Given the description of an element on the screen output the (x, y) to click on. 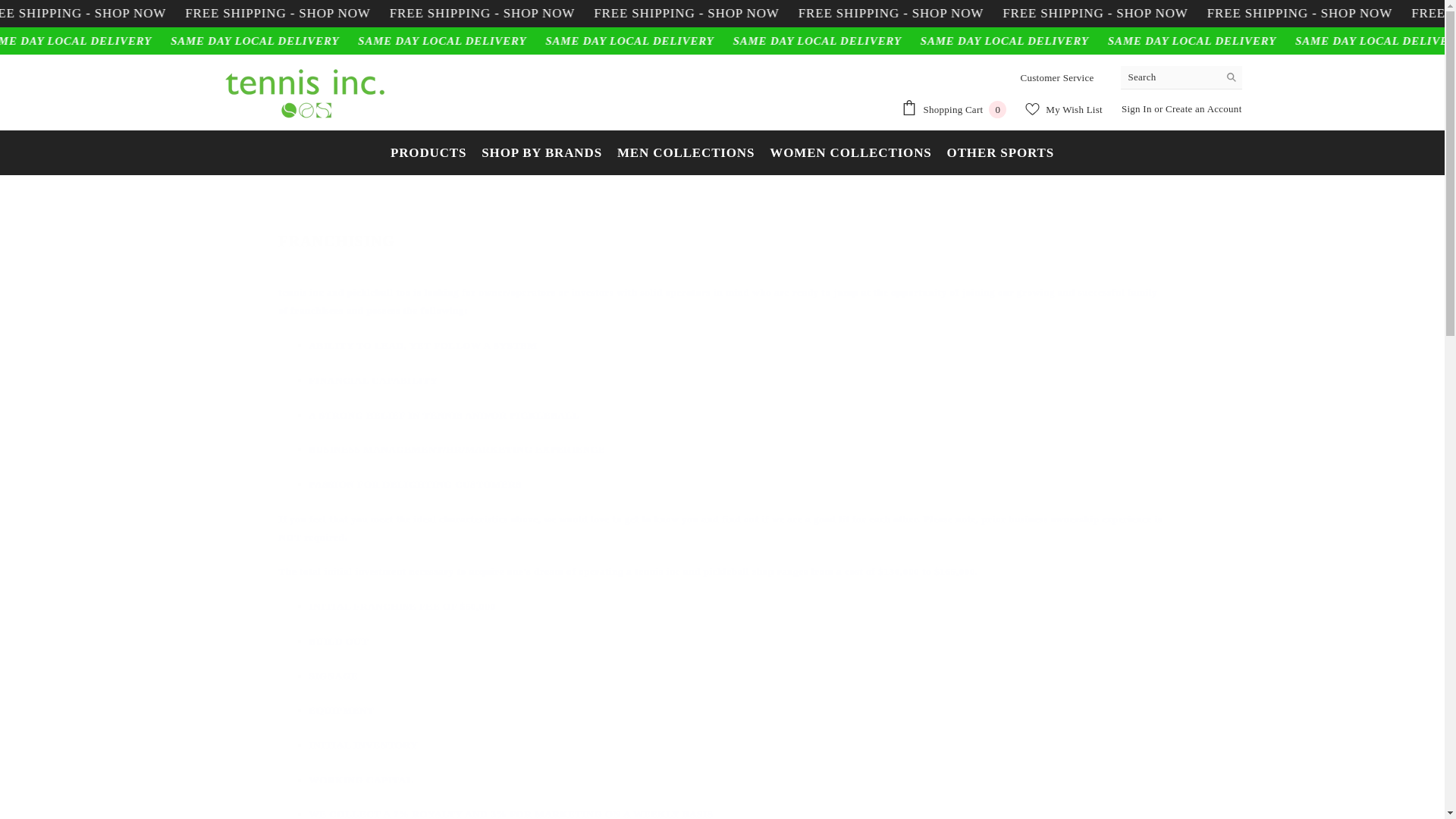
SAME DAY LOCAL DELIVERY (953, 108)
FRANCHISING (1198, 13)
SAME DAY LOCAL DELIVERY (898, 40)
SAME DAY LOCAL DELIVERY (722, 236)
SAME DAY LOCAL DELIVERY (794, 13)
